Given the description of an element on the screen output the (x, y) to click on. 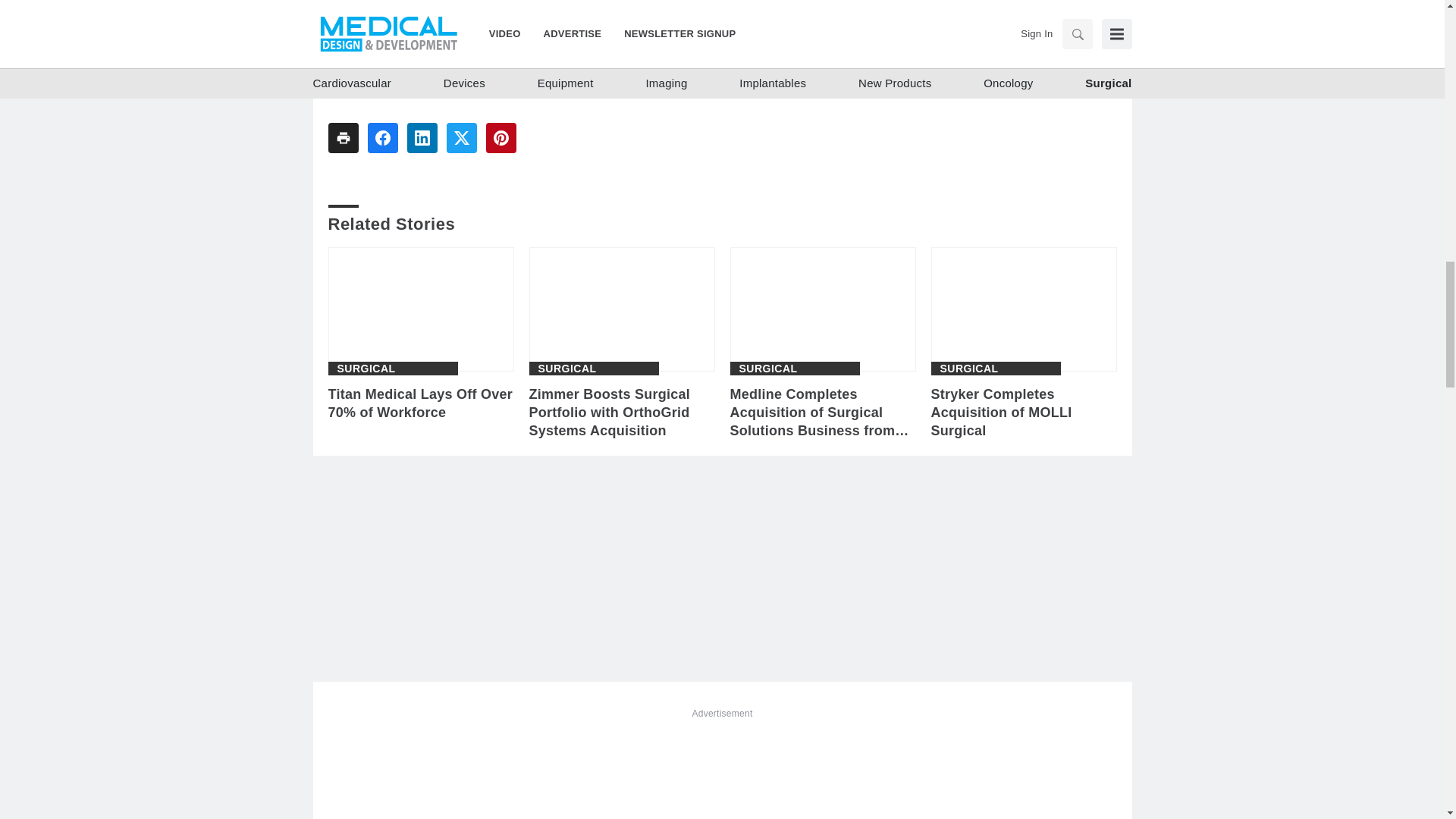
Share To print (342, 137)
Share To twitter (460, 137)
Share To linkedin (421, 137)
Share To pinterest (499, 137)
Share To facebook (381, 137)
